Given the description of an element on the screen output the (x, y) to click on. 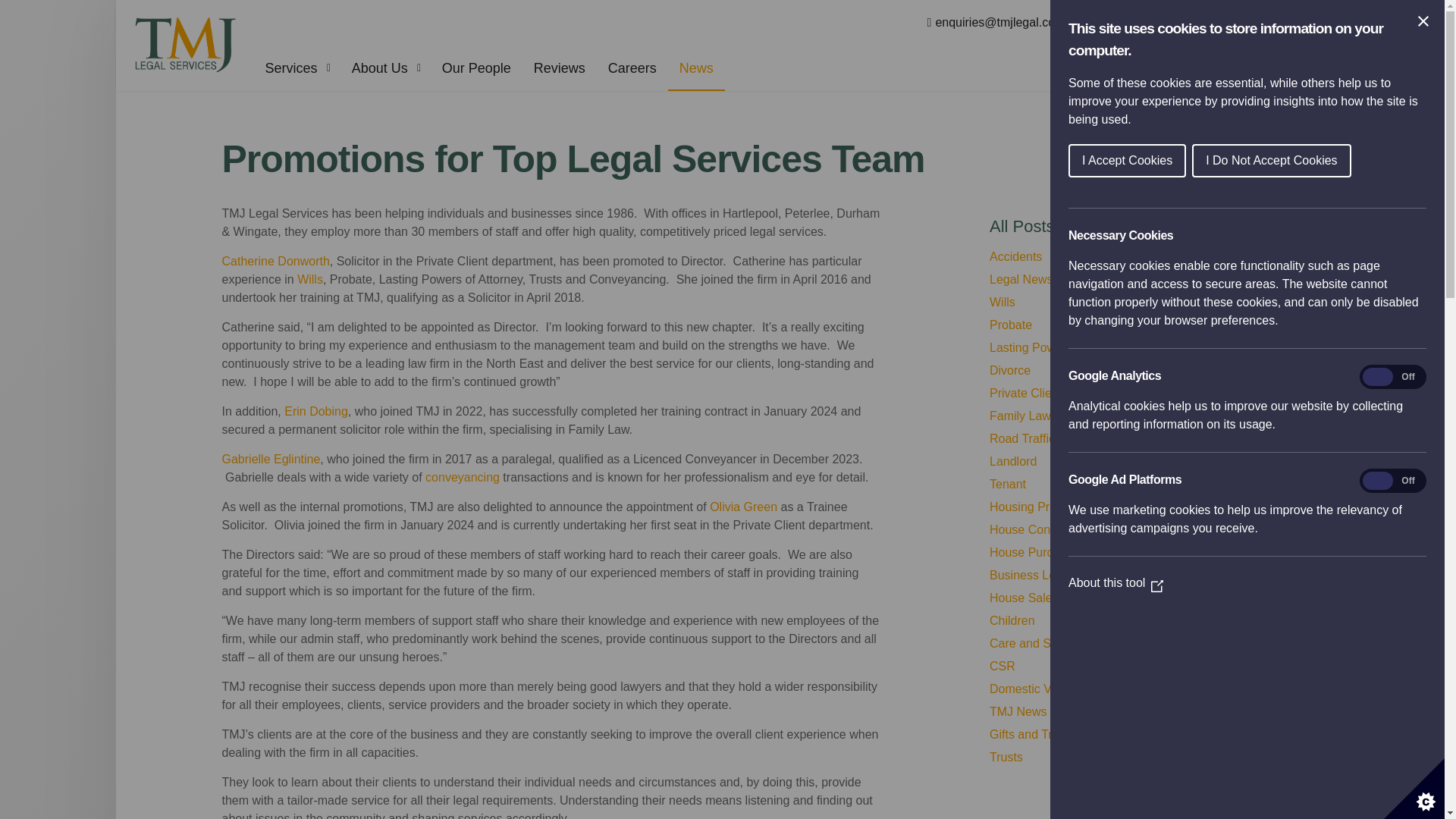
I Accept Cookies (1295, 160)
Reviews (558, 67)
Gabrielle Eglintine (270, 459)
Services (296, 67)
Erin Dobing (315, 410)
TMJ Legal (184, 45)
Erin Dobing (315, 410)
01429 235 616 (1130, 22)
Conveyancing (462, 477)
Contact (1296, 22)
